Given the description of an element on the screen output the (x, y) to click on. 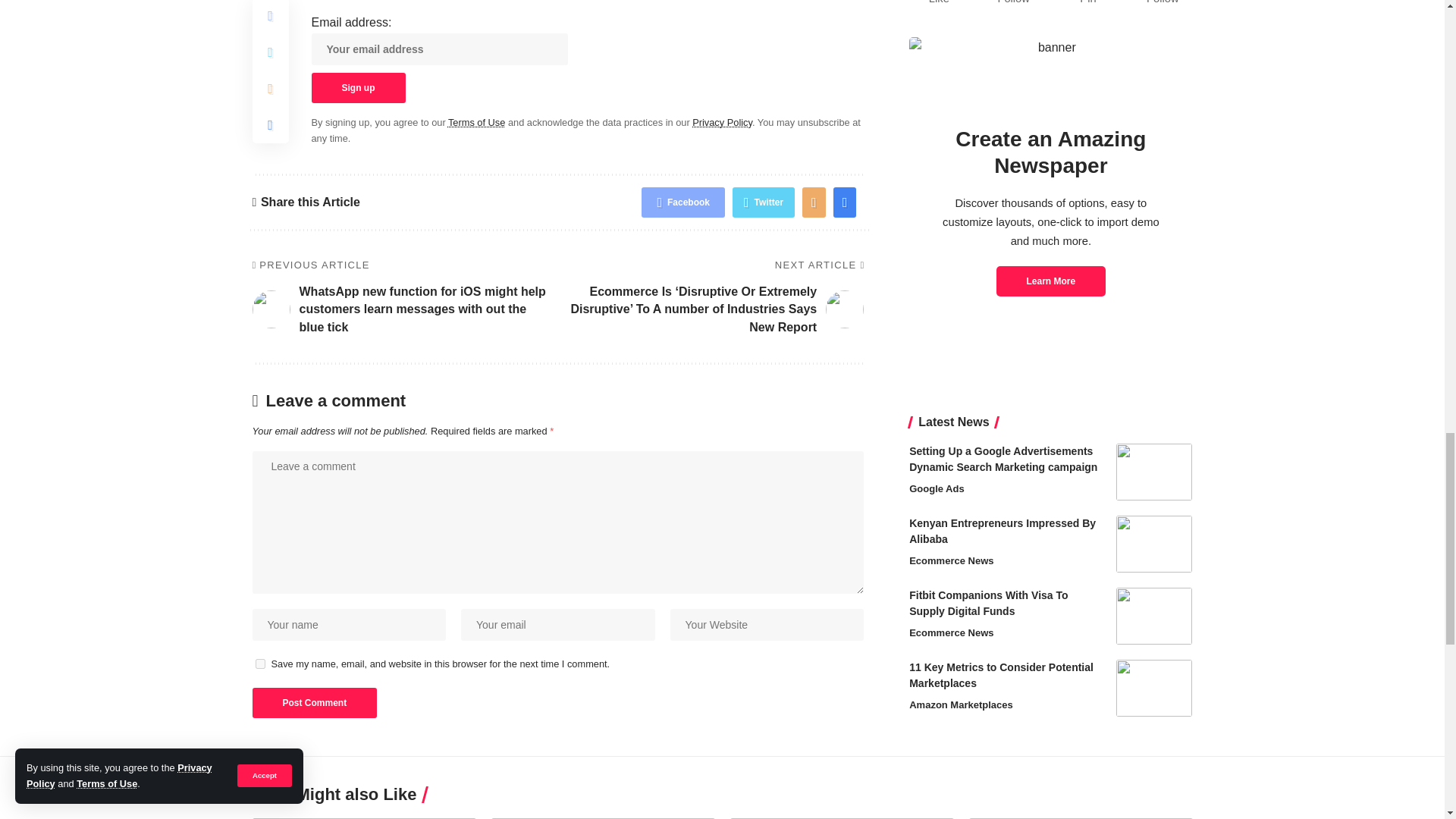
yes (259, 664)
Post Comment (314, 702)
Sign up (357, 87)
